Given the description of an element on the screen output the (x, y) to click on. 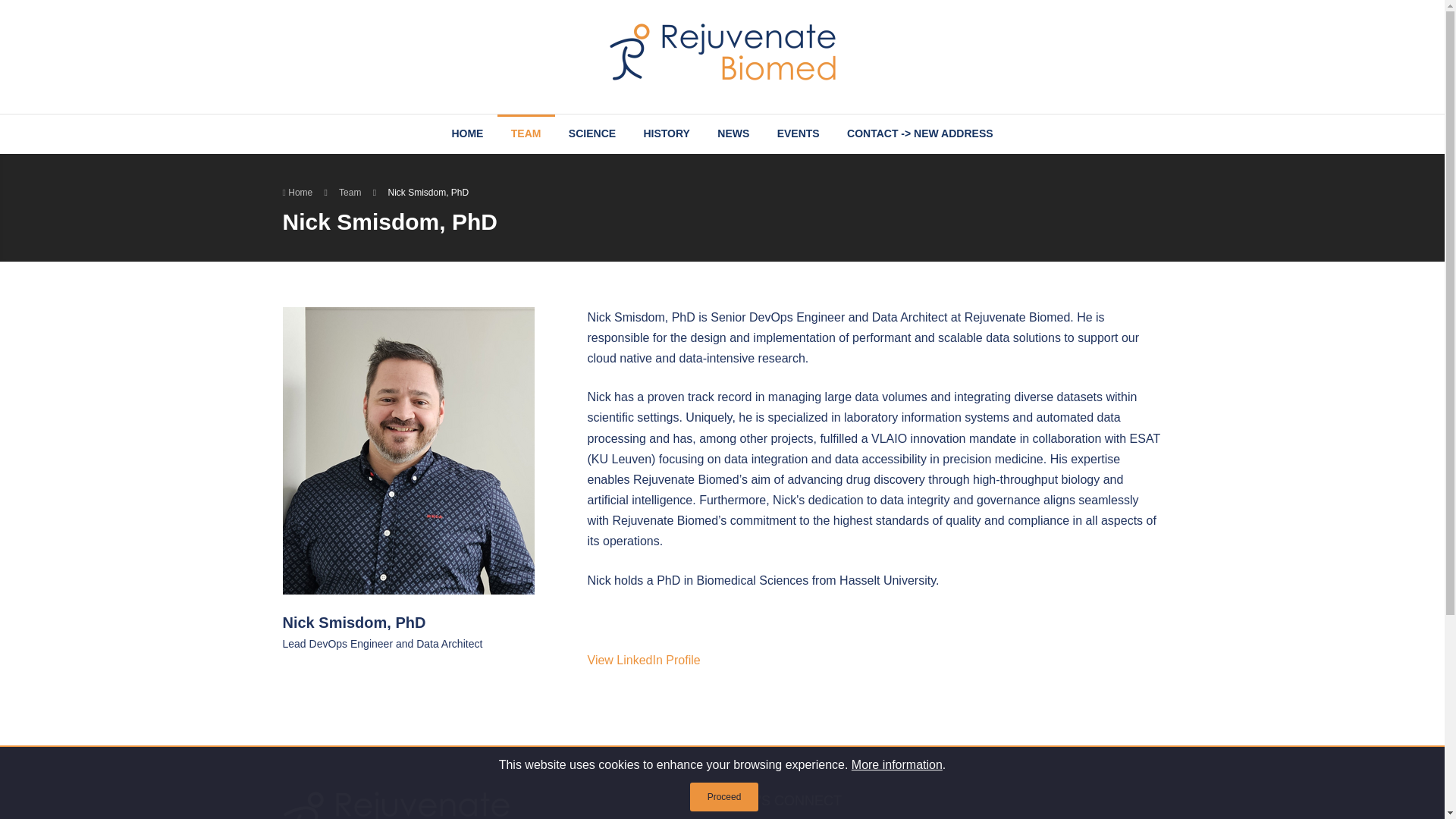
SCIENCE (592, 133)
Home (298, 192)
TEAM (525, 133)
NEWS (732, 133)
EVENTS (797, 133)
HOME (467, 133)
Rejuvenate Biomed (721, 49)
View LinkedIn Profile (644, 659)
Team (351, 192)
HISTORY (665, 133)
More information (896, 764)
Proceed (724, 796)
